Given the description of an element on the screen output the (x, y) to click on. 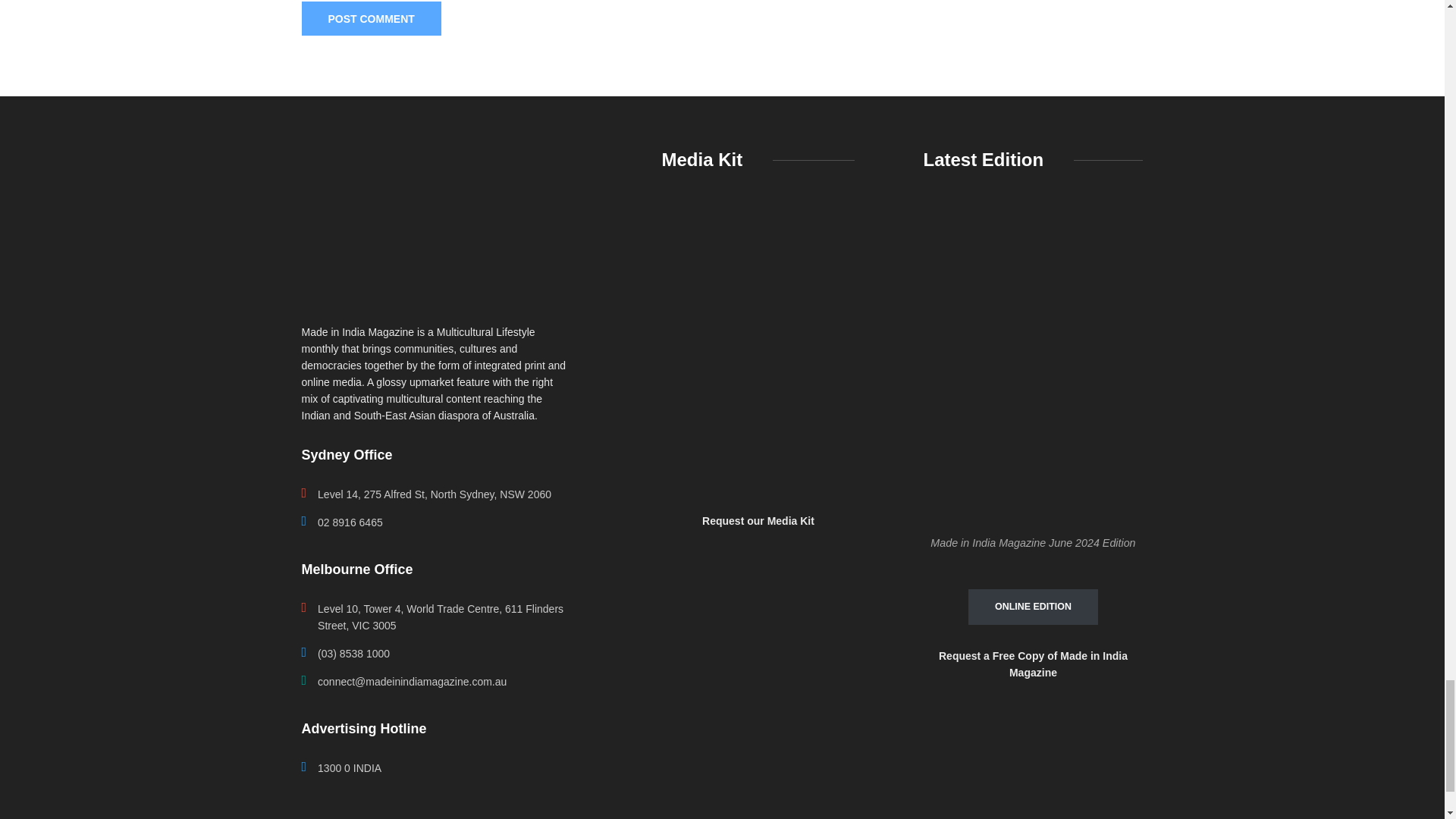
Post Comment (371, 18)
